Given the description of an element on the screen output the (x, y) to click on. 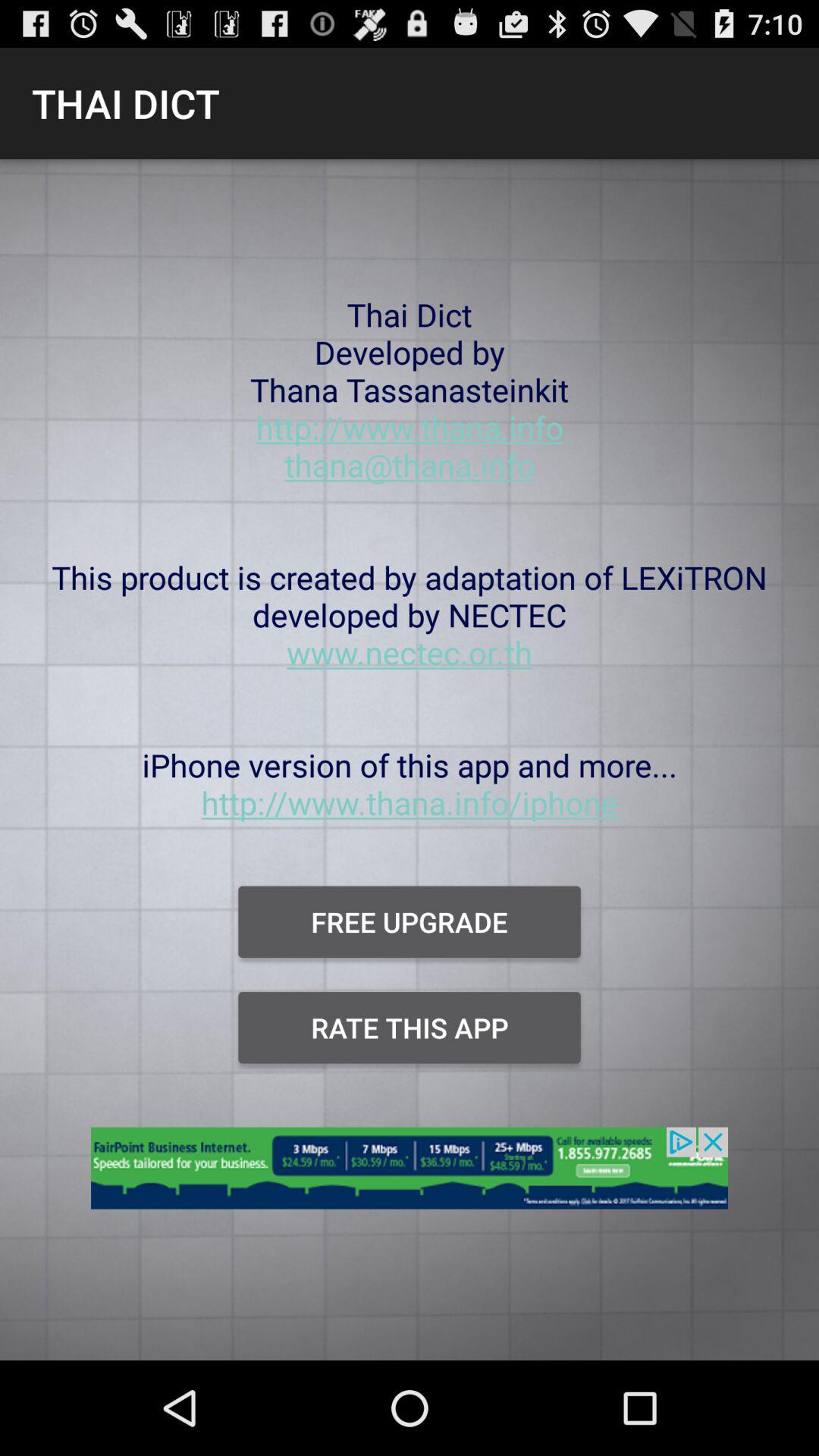
open advertisement (409, 1176)
